Given the description of an element on the screen output the (x, y) to click on. 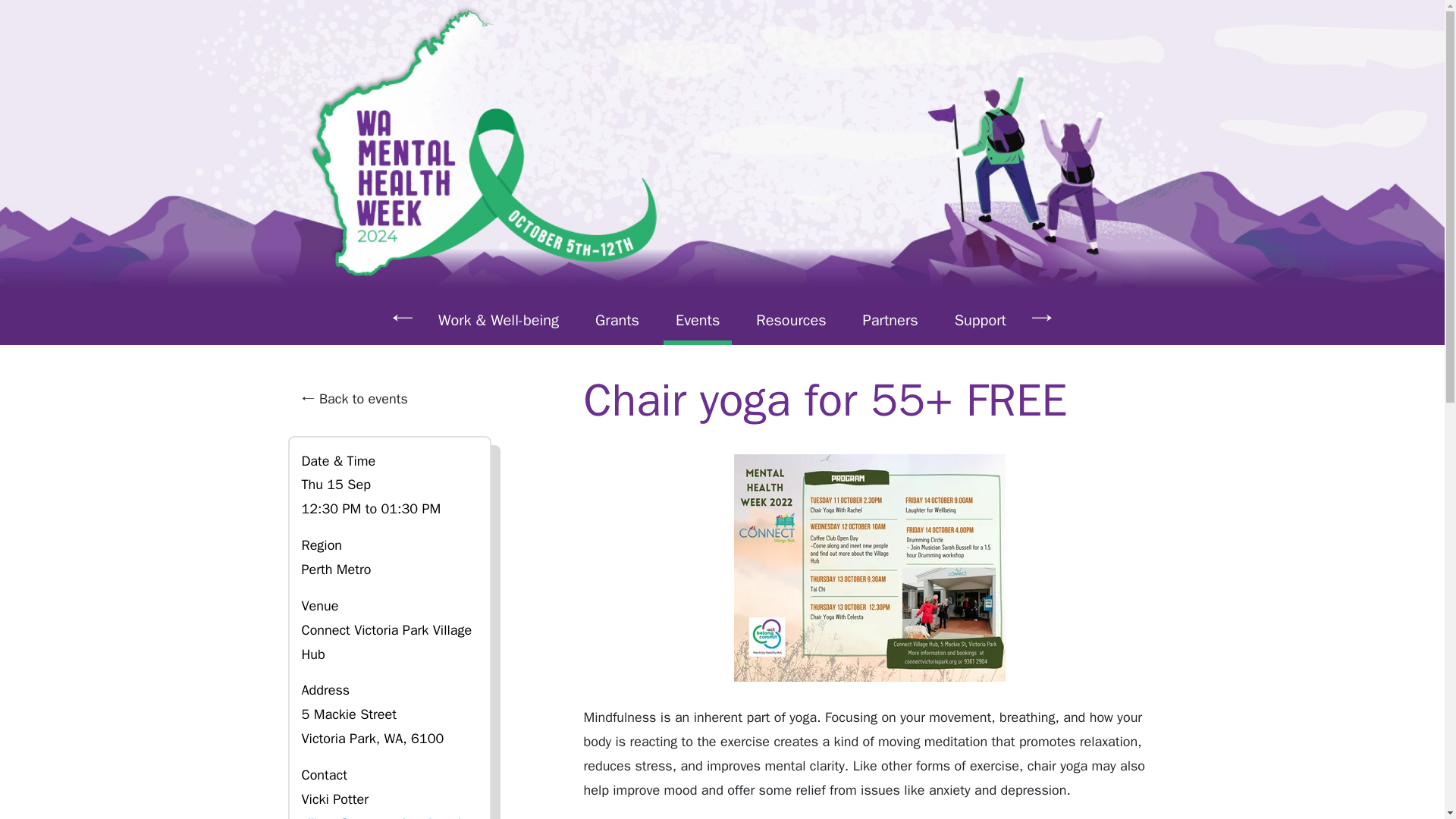
Events (697, 320)
Support (979, 320)
Resources (791, 320)
Partners (890, 320)
Grants (616, 320)
Partners (890, 320)
Support (979, 320)
Resources (791, 320)
Grants (616, 320)
